Given the description of an element on the screen output the (x, y) to click on. 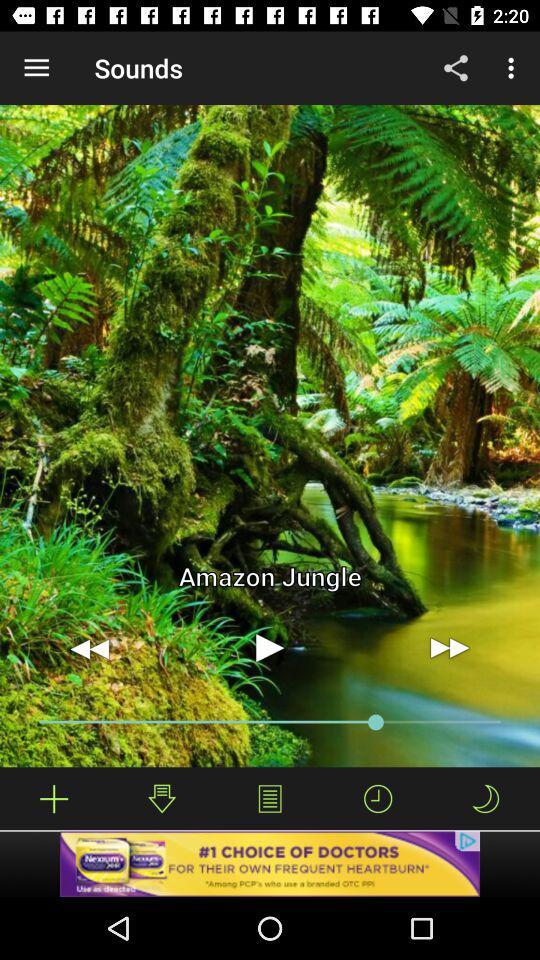
play forward option (450, 648)
